Given the description of an element on the screen output the (x, y) to click on. 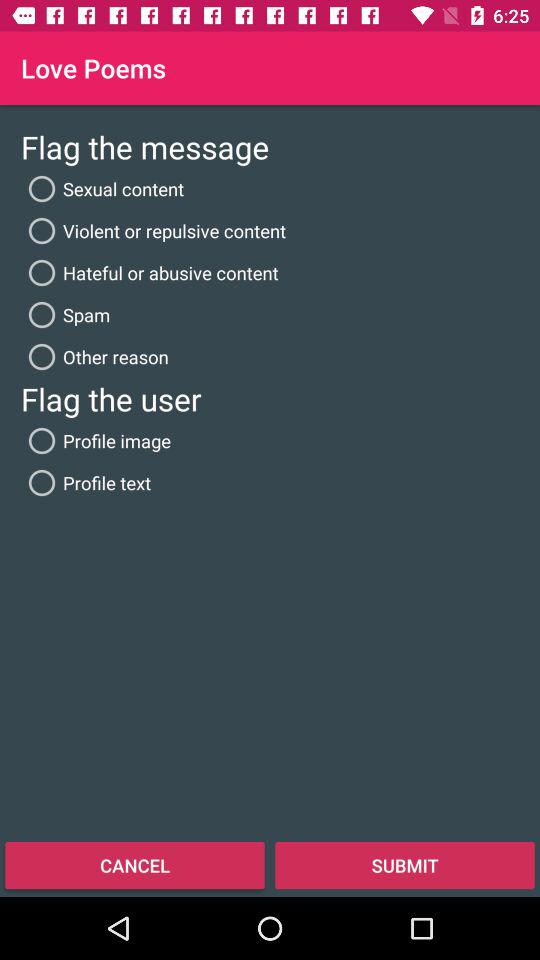
turn off radio button below the hateful or abusive (65, 314)
